Given the description of an element on the screen output the (x, y) to click on. 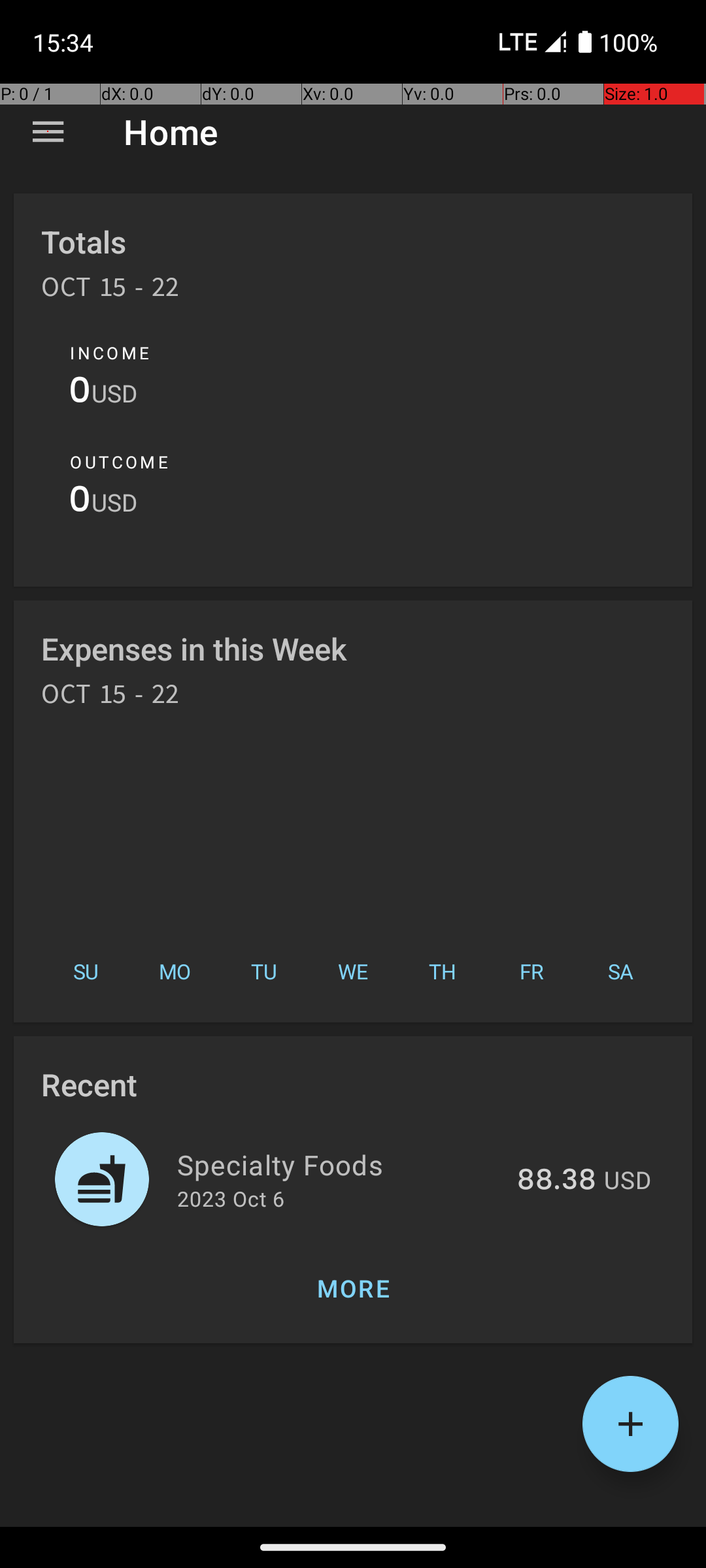
88.38 Element type: android.widget.TextView (556, 1180)
